Given the description of an element on the screen output the (x, y) to click on. 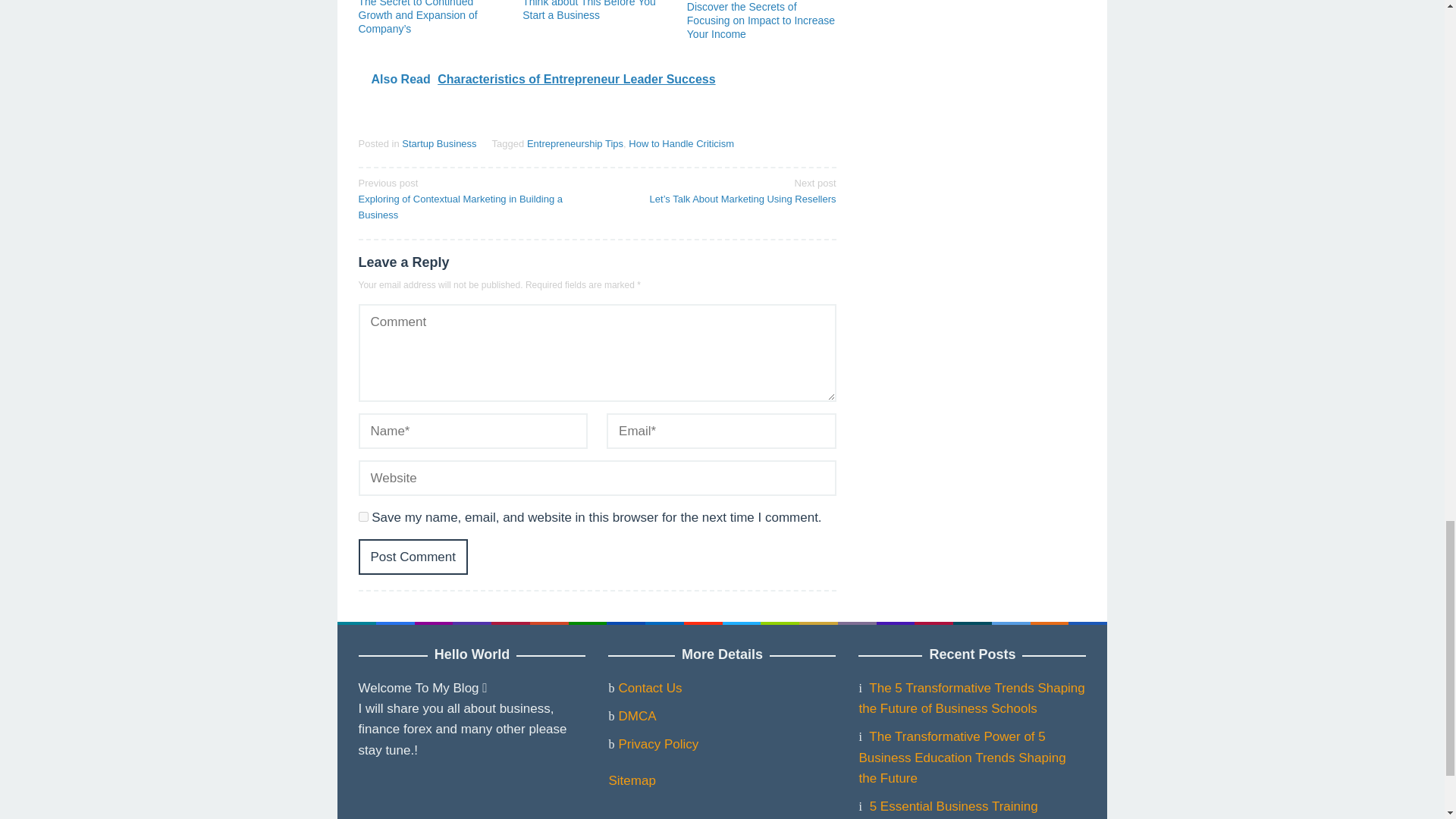
yes (363, 516)
Startup Business (438, 143)
Post Comment (412, 556)
How to Handle Criticism (680, 143)
Post Comment (412, 556)
Also Read  Characteristics of Entrepreneur Leader Success (596, 79)
Entrepreneurship Tips (575, 143)
Think about This Before You Start a Business (589, 10)
